Given the description of an element on the screen output the (x, y) to click on. 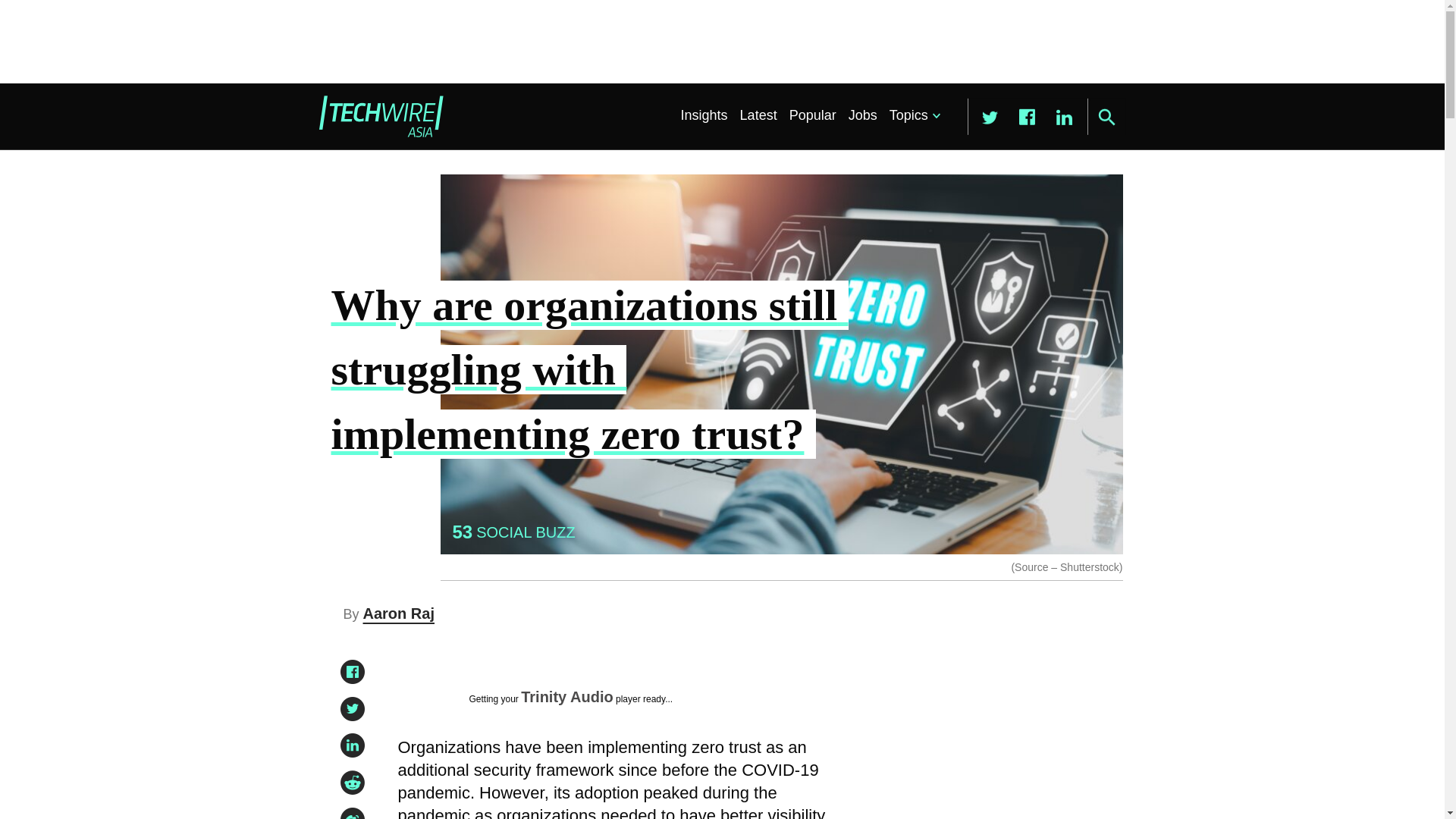
Popular (813, 115)
Posts by Aaron Raj (397, 613)
Aaron Raj (397, 613)
Jobs (863, 115)
Submit (1106, 116)
Insights (704, 115)
Topics (911, 115)
3rd party ad content (988, 746)
Latest (758, 115)
3rd party ad content (721, 41)
Submit (1106, 116)
